Given the description of an element on the screen output the (x, y) to click on. 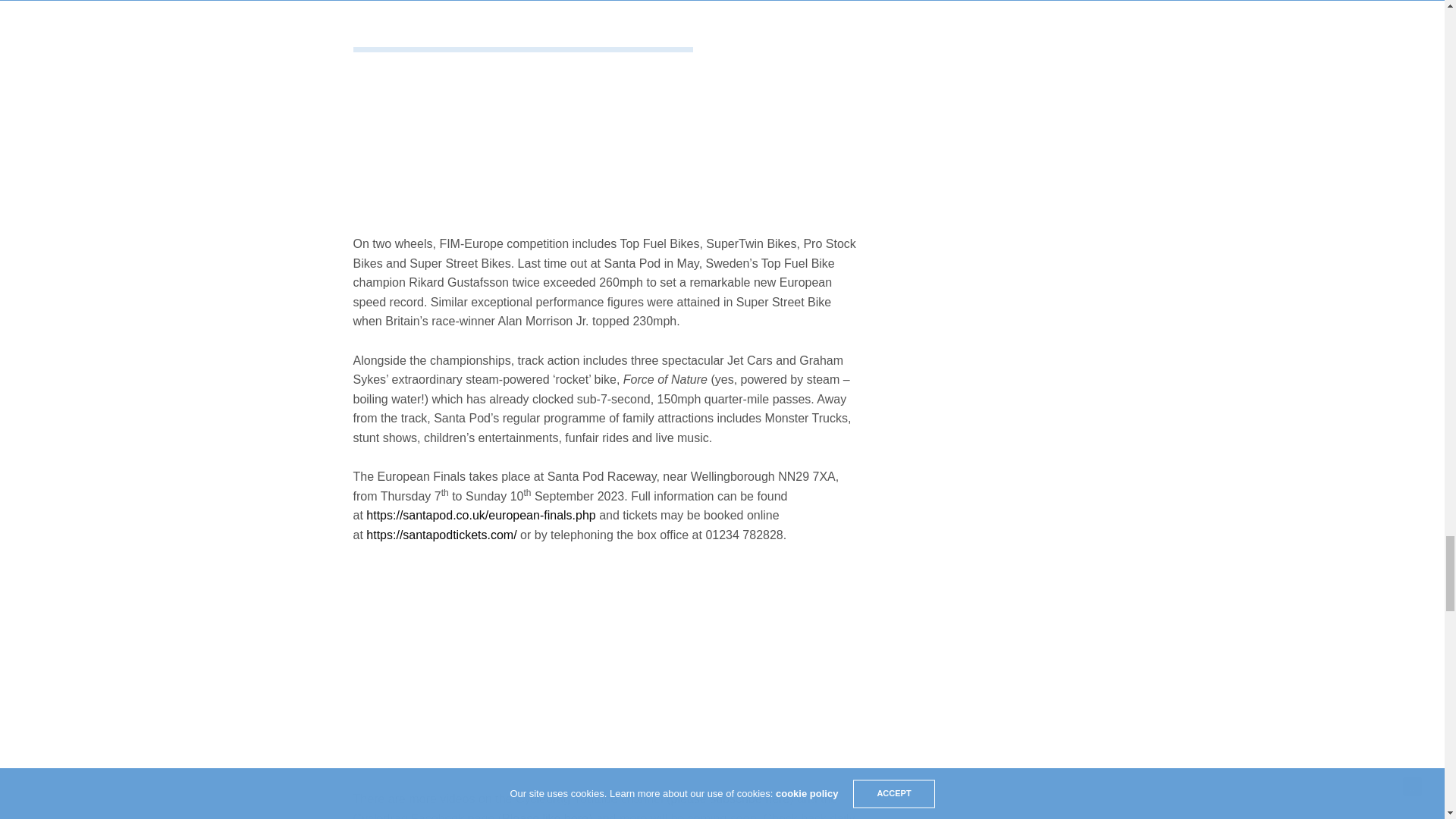
please subscribe here (730, 799)
YouTube video player (608, 664)
Please like here (545, 815)
